Given the description of an element on the screen output the (x, y) to click on. 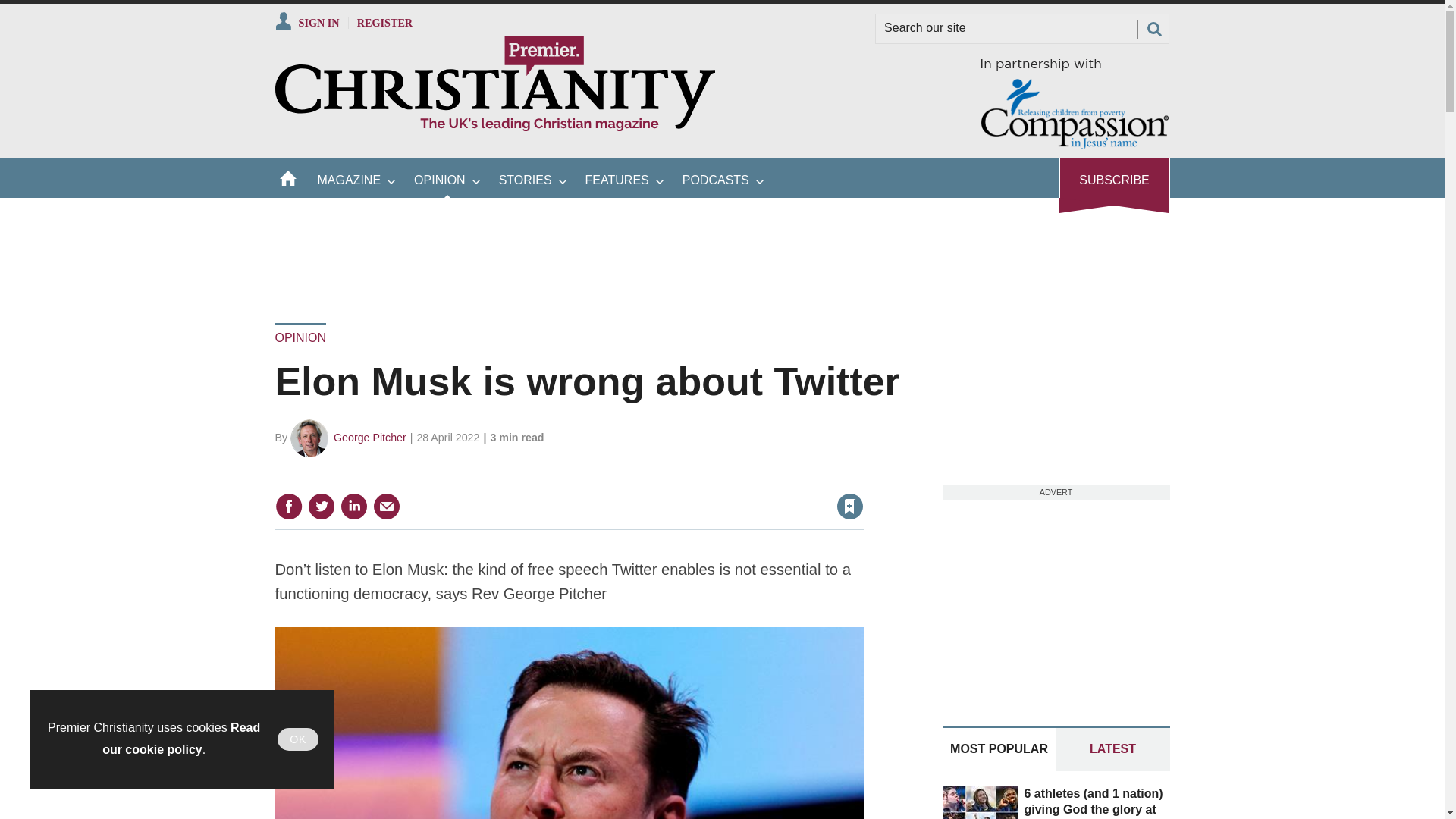
Read our cookie policy (180, 738)
Share this on Twitter (320, 506)
REGISTER (384, 22)
3rd party ad content (1055, 594)
SIGN IN (307, 22)
3rd party ad content (721, 250)
SEARCH (1153, 28)
Share this on Facebook (288, 506)
OK (298, 739)
Share this on Linked in (352, 506)
